Given the description of an element on the screen output the (x, y) to click on. 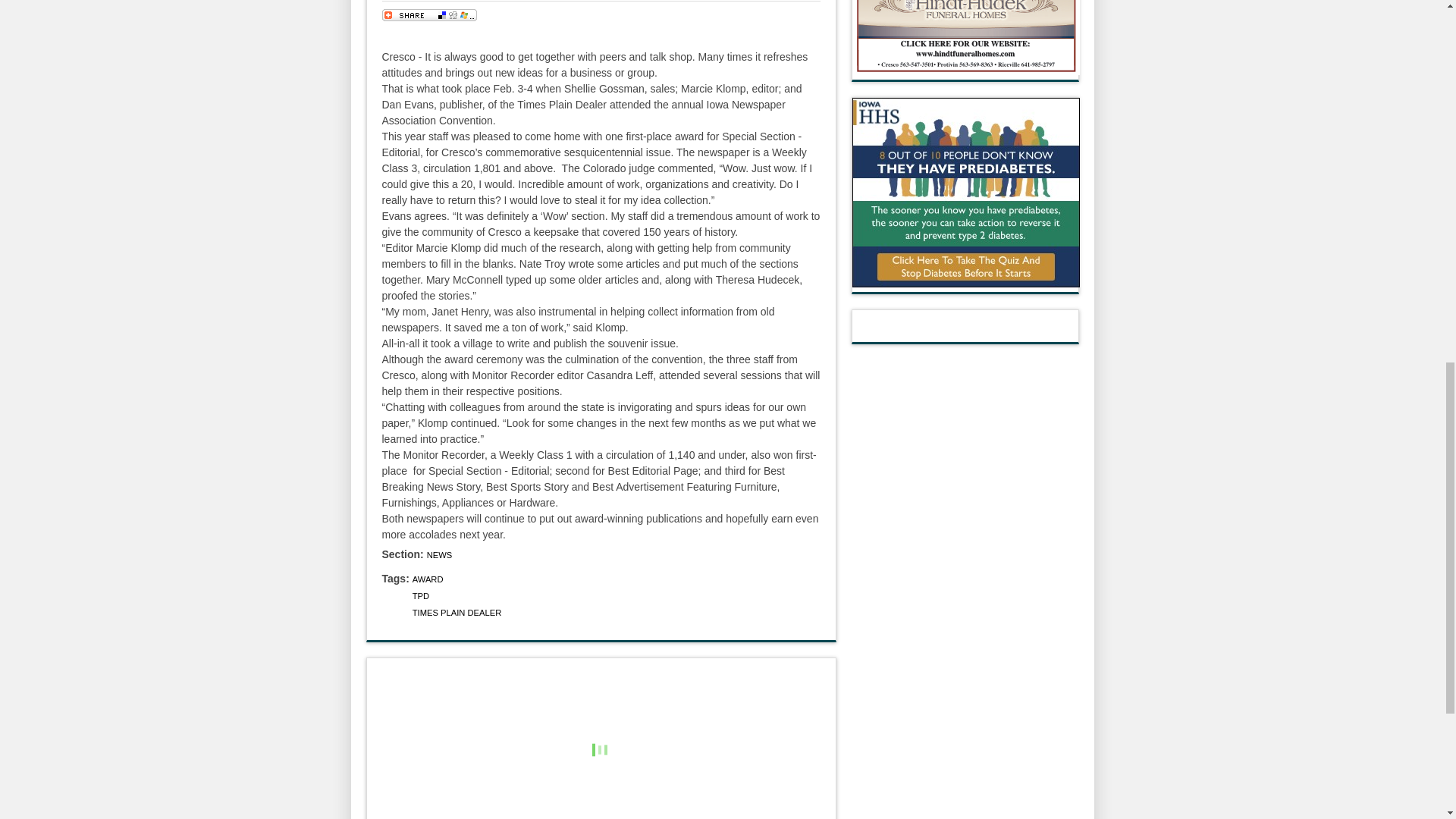
AWARD (428, 578)
TPD (420, 595)
TIMES PLAIN DEALER (457, 612)
NEWS (439, 554)
